Given the description of an element on the screen output the (x, y) to click on. 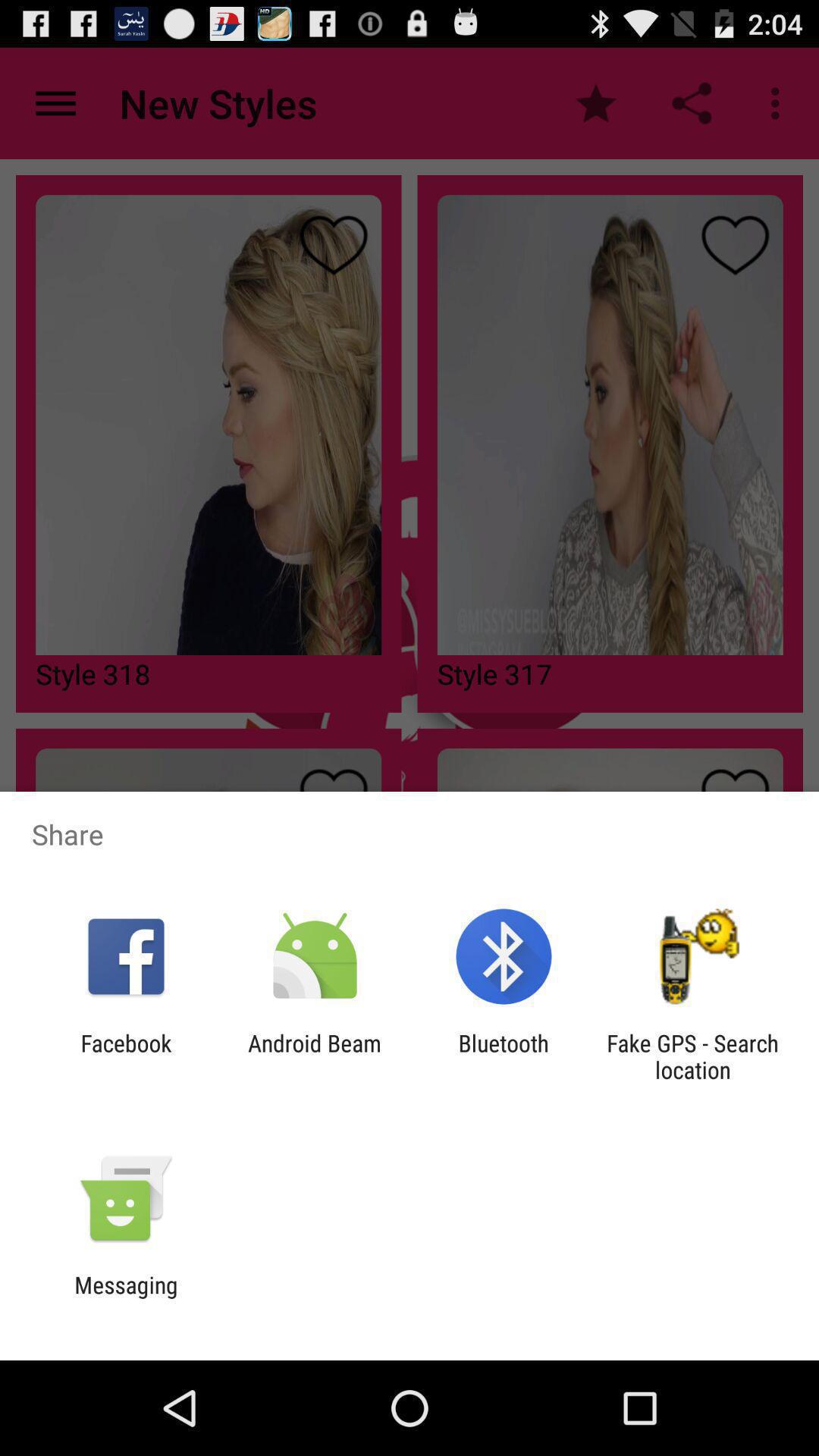
turn off the icon to the left of android beam item (125, 1056)
